Given the description of an element on the screen output the (x, y) to click on. 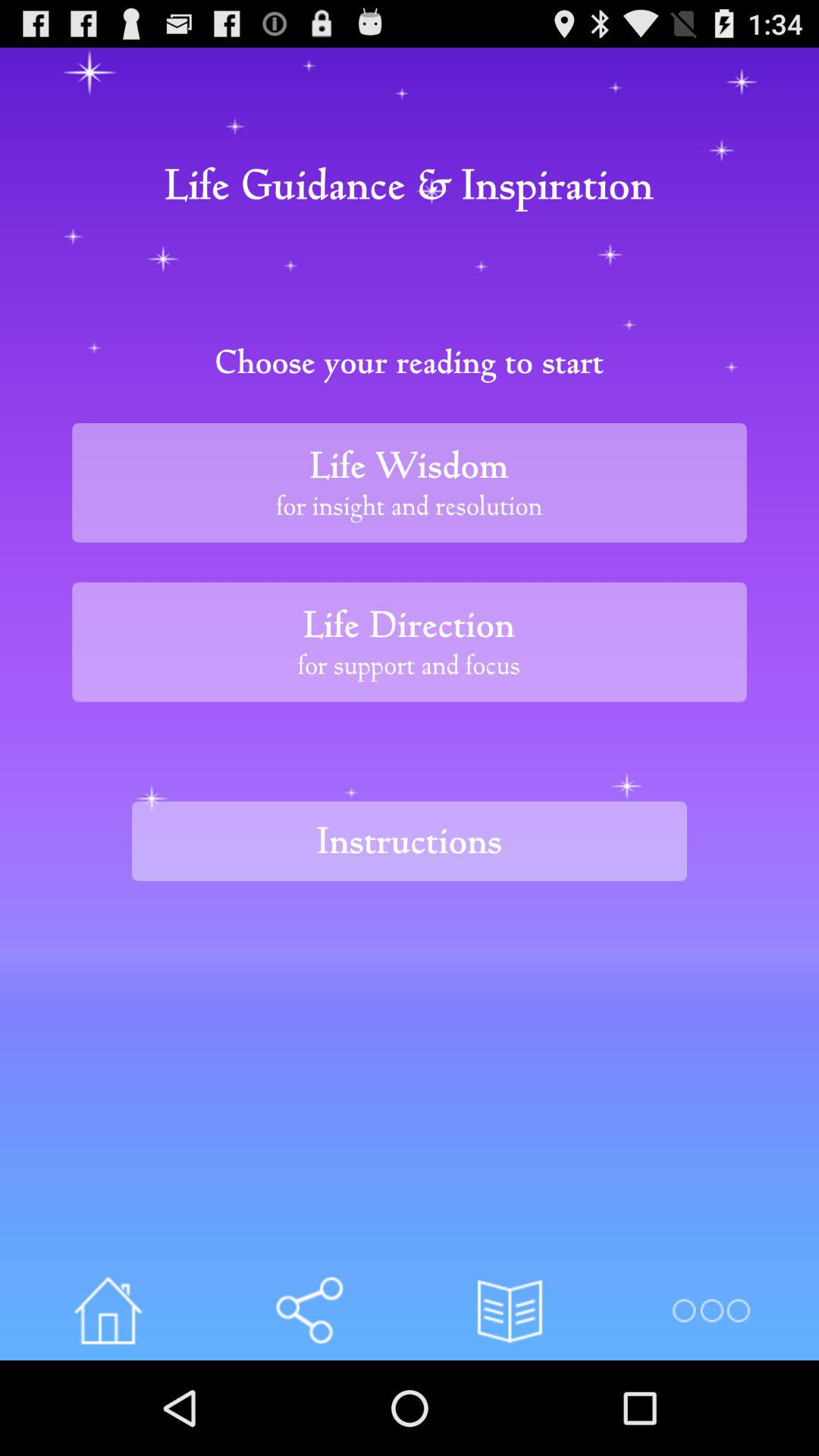
tap icon at the bottom left corner (107, 1310)
